Given the description of an element on the screen output the (x, y) to click on. 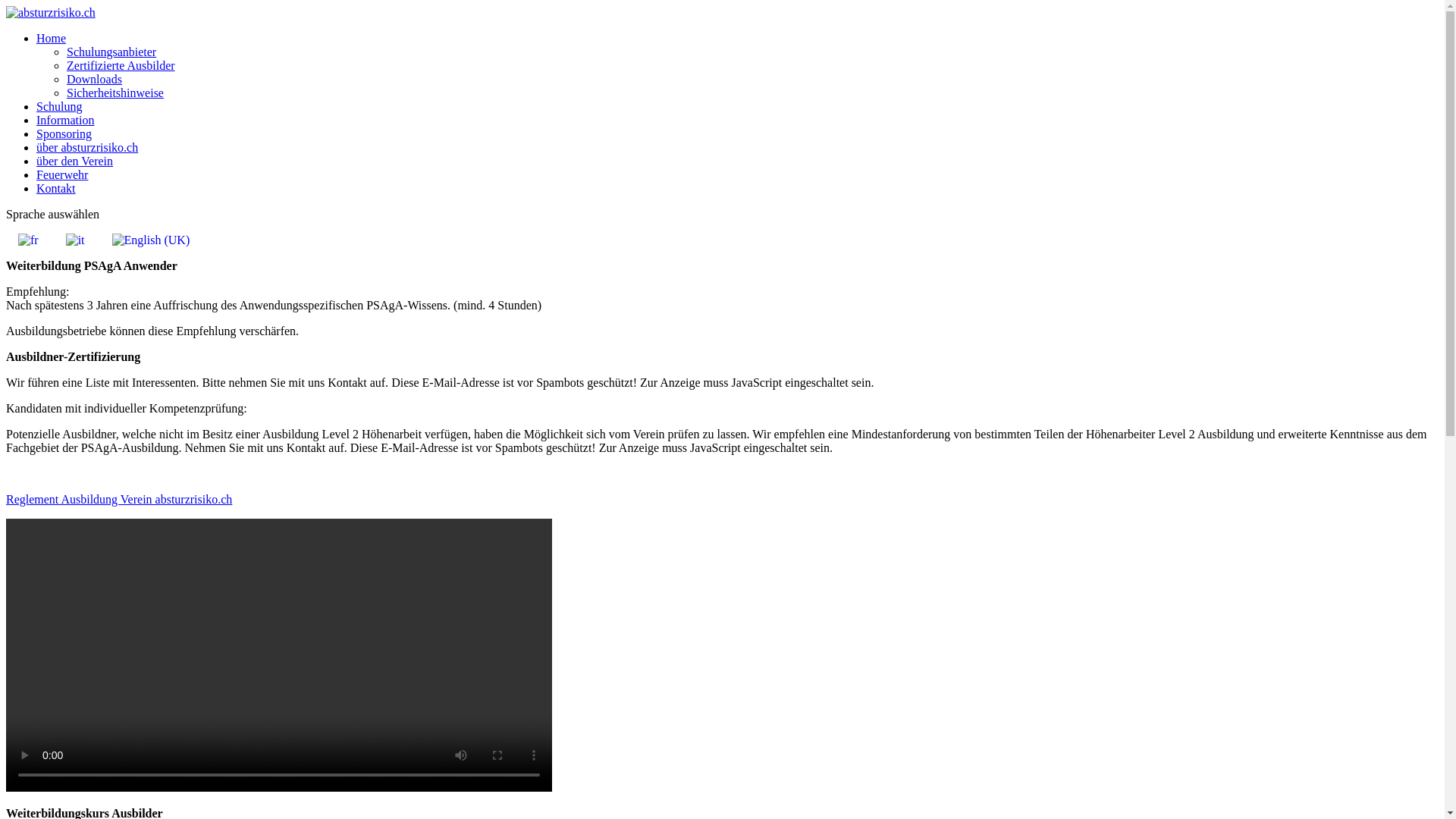
Downloads Element type: text (94, 78)
Sicherheitshinweise Element type: text (114, 92)
fr Element type: hover (28, 240)
Feuerwehr Element type: text (61, 174)
Sponsoring Element type: text (63, 133)
it Element type: hover (74, 240)
English (UK) Element type: hover (151, 240)
Kontakt Element type: text (55, 188)
Schulungsanbieter Element type: text (111, 51)
Schulung Element type: text (58, 106)
Information Element type: text (65, 119)
Reglement Ausbildung Verein absturzrisiko.ch Element type: text (119, 498)
Zertifizierte Ausbilder Element type: text (120, 65)
Home Element type: text (50, 37)
